Given the description of an element on the screen output the (x, y) to click on. 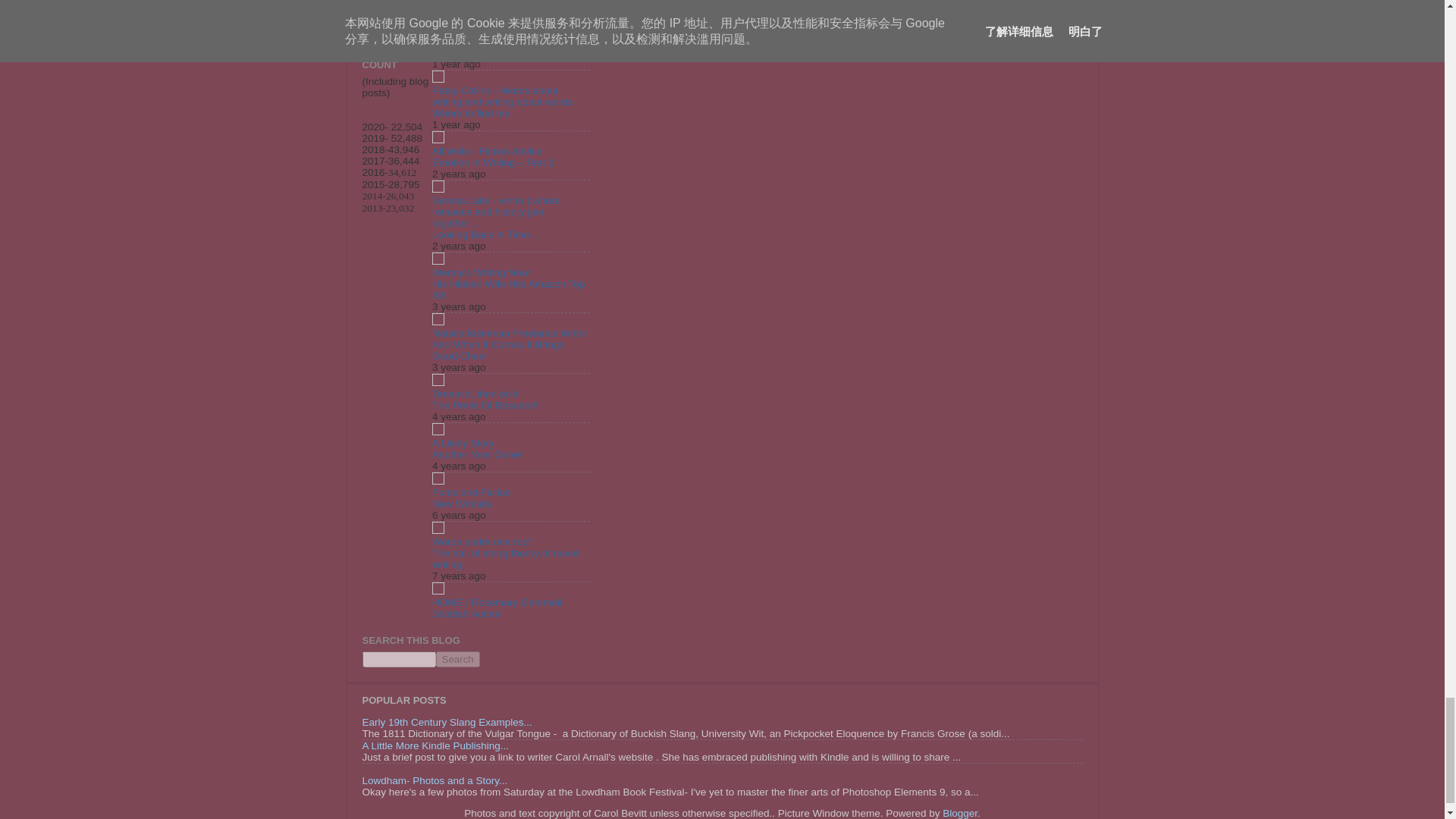
Search (457, 659)
Search (457, 659)
